Given the description of an element on the screen output the (x, y) to click on. 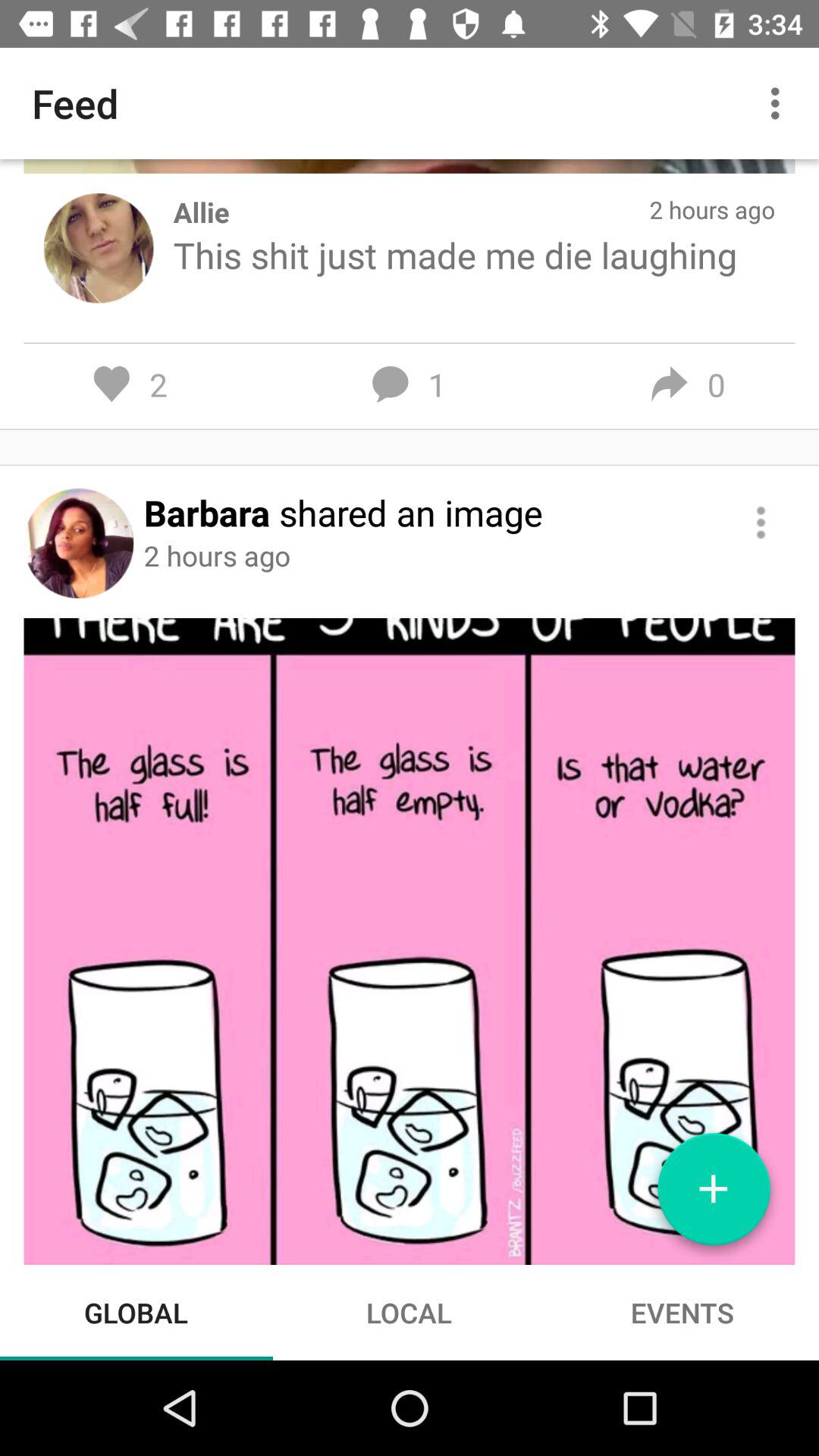
show more info (760, 522)
